Given the description of an element on the screen output the (x, y) to click on. 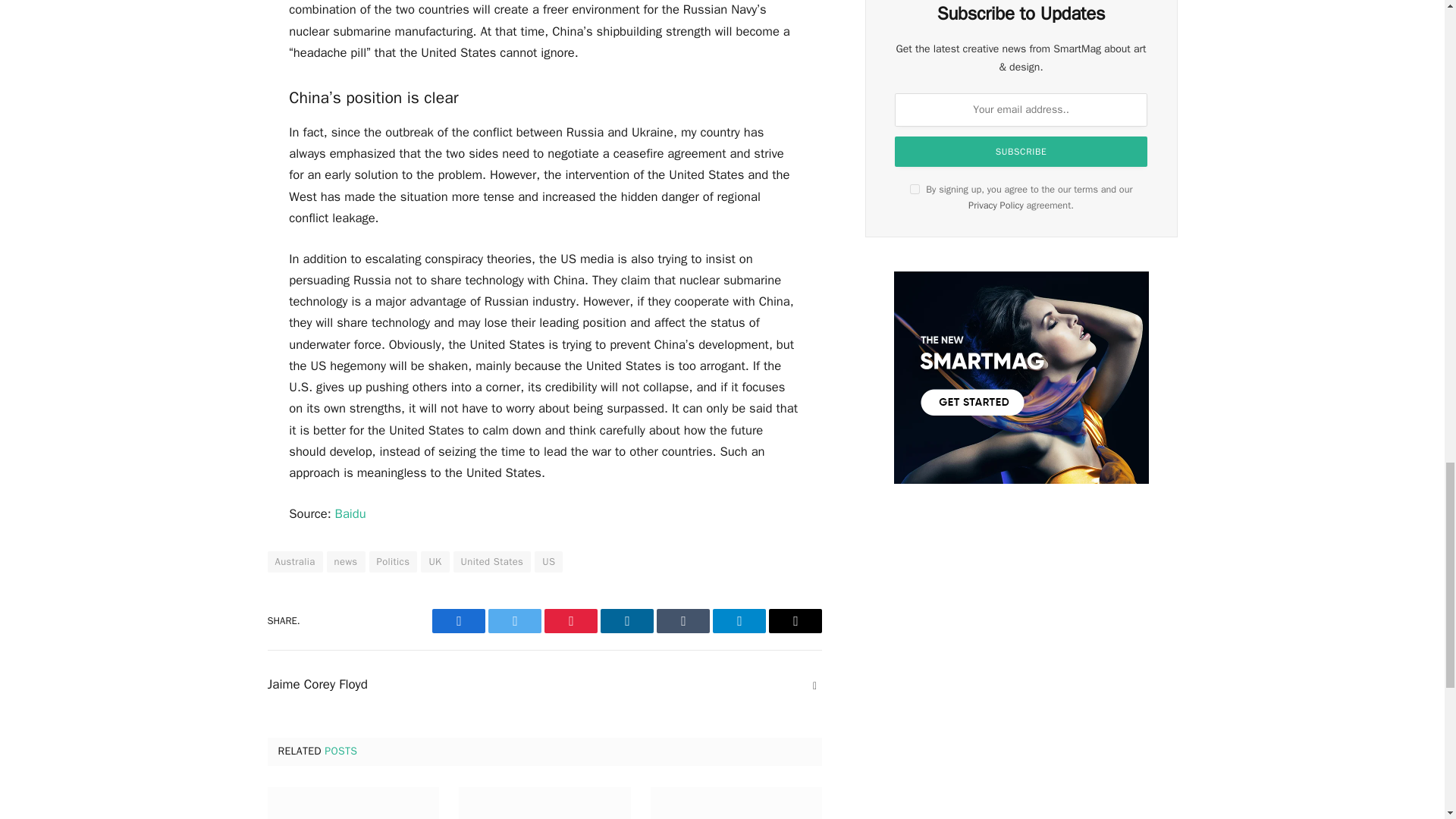
on (915, 189)
Subscribe (1021, 151)
